Given the description of an element on the screen output the (x, y) to click on. 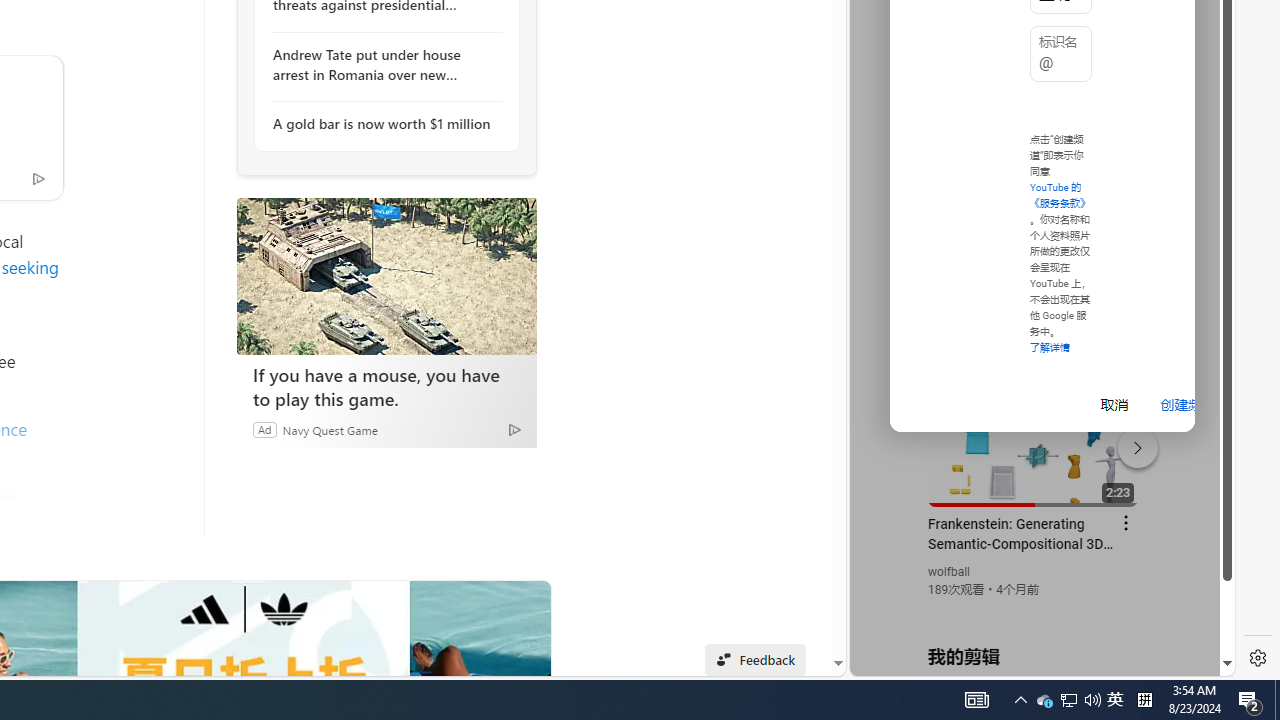
Navy Quest Game (329, 429)
YouTube (1034, 432)
US[ju] (917, 660)
Click to scroll right (1196, 83)
